Given the description of an element on the screen output the (x, y) to click on. 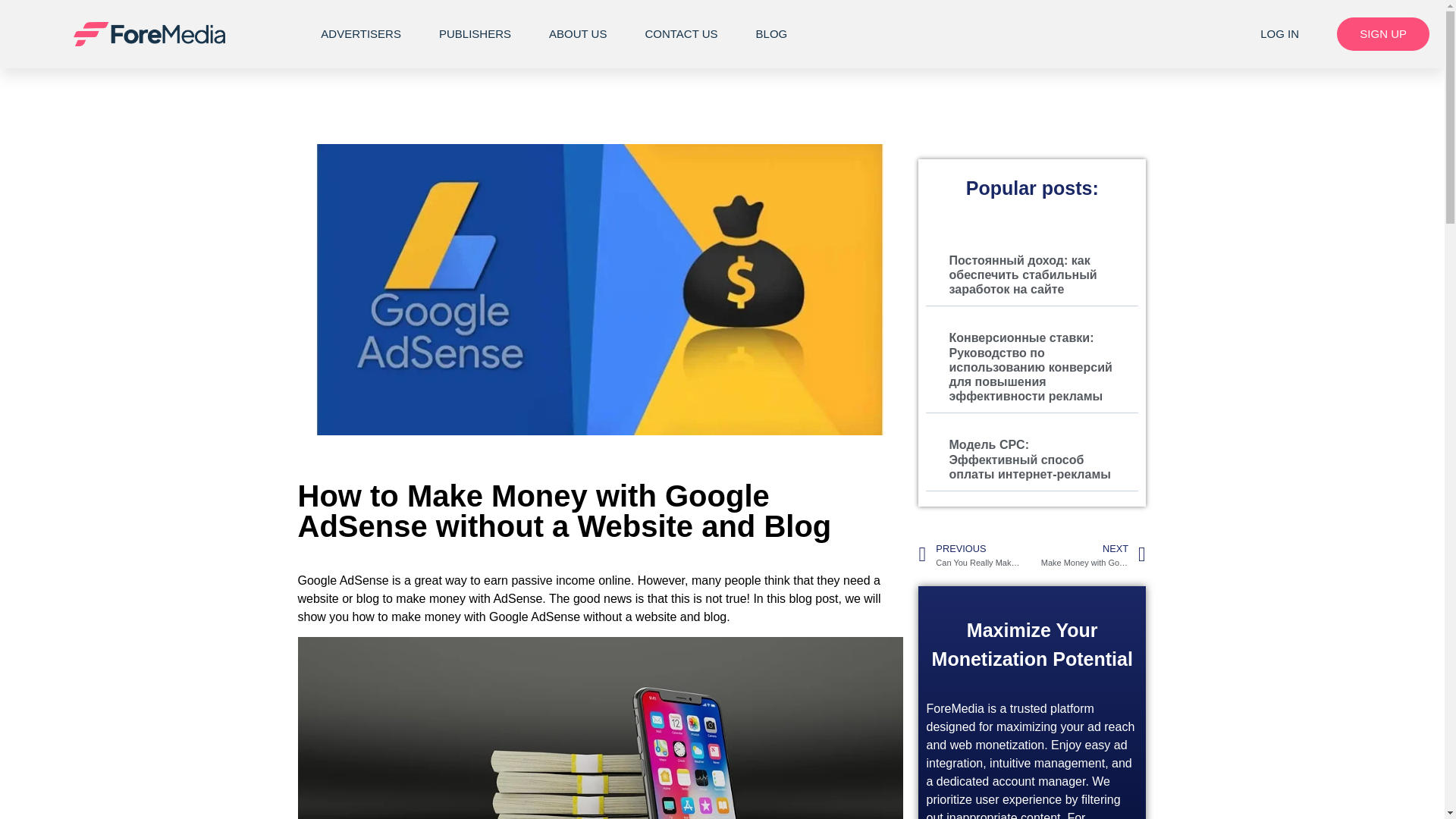
CONTACT US (681, 33)
PUBLISHERS (475, 33)
ADVERTISERS (360, 33)
SIGN UP (1382, 33)
LOG IN (1279, 33)
